Given the description of an element on the screen output the (x, y) to click on. 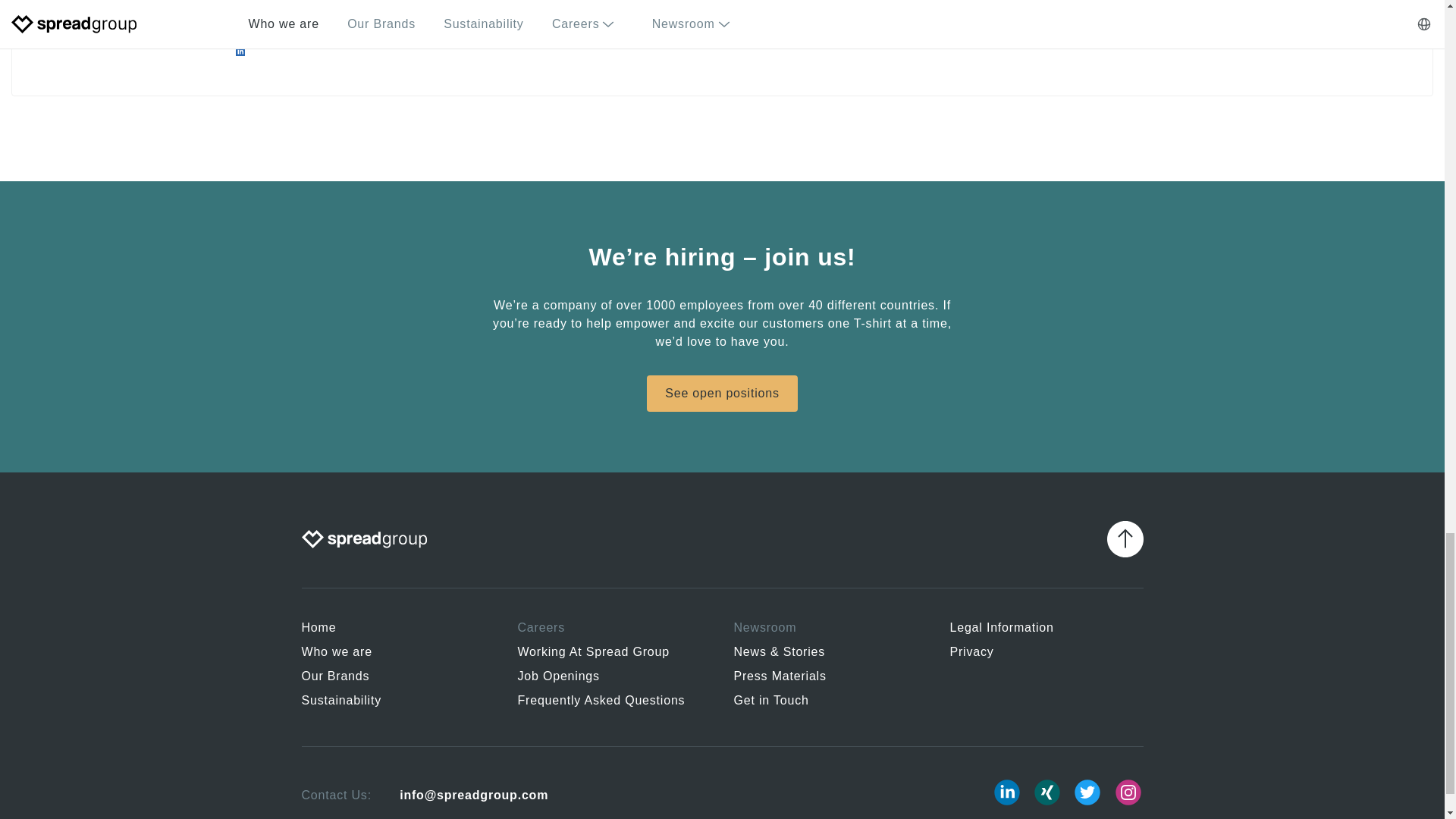
Working At Spread Group (613, 654)
LinkedIn (1006, 792)
Press Materials (830, 679)
Job Openings (613, 679)
Sustainability (398, 703)
Who we are (398, 654)
Instagram (1127, 792)
Spreadgroup (363, 538)
Frequently Asked Questions (613, 703)
Get in Touch (830, 703)
Privacy (1045, 654)
Legal Information (1045, 630)
twitter (1086, 792)
Xing (1047, 792)
See open positions (721, 393)
